Given the description of an element on the screen output the (x, y) to click on. 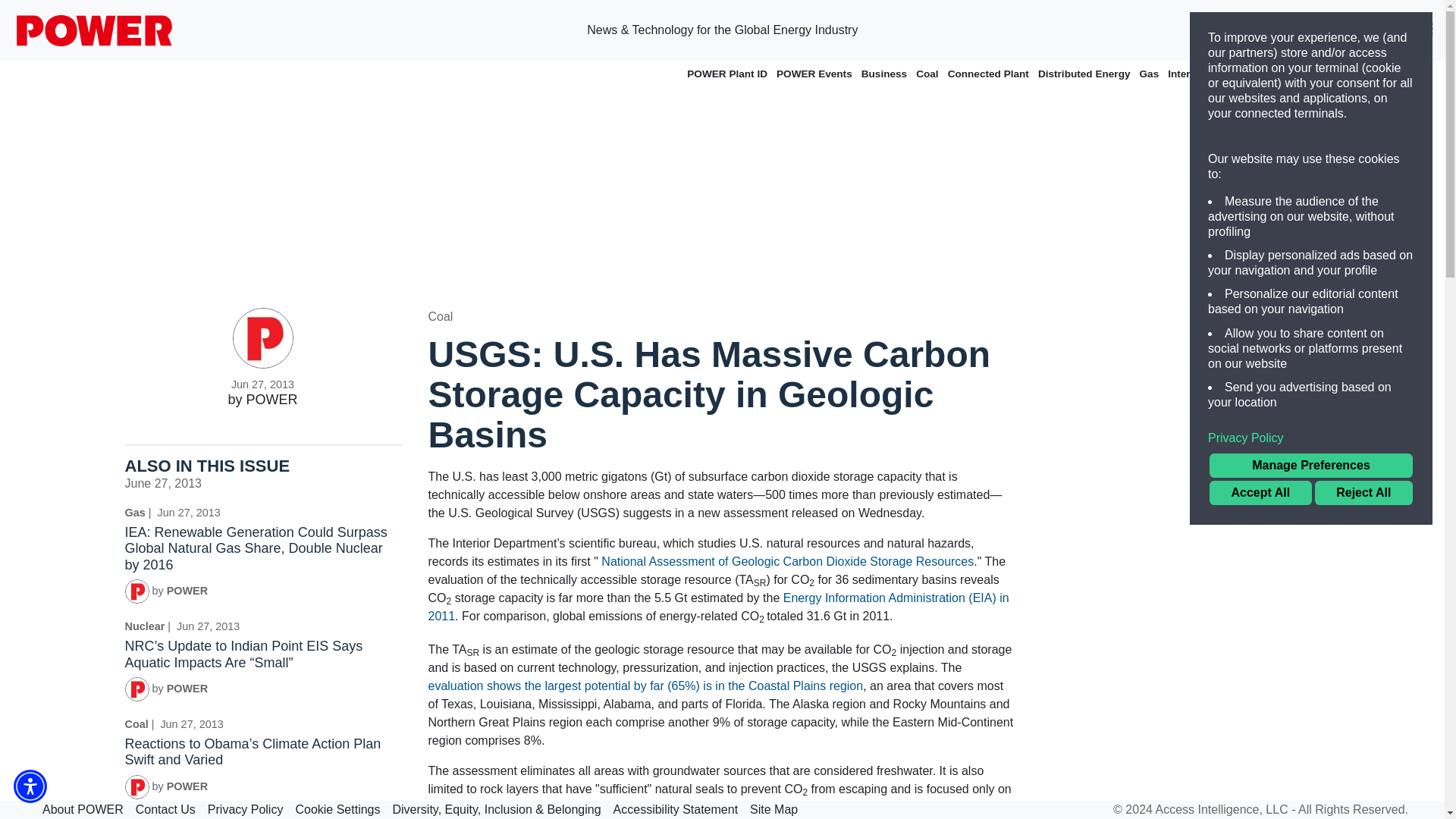
Accessibility Menu (29, 786)
Log In (1379, 30)
Open Navigation (1425, 30)
Sign up (1303, 30)
Accept All (1260, 492)
Manage Preferences (1310, 465)
Reject All (1363, 492)
Privacy Policy (1310, 437)
